Given the description of an element on the screen output the (x, y) to click on. 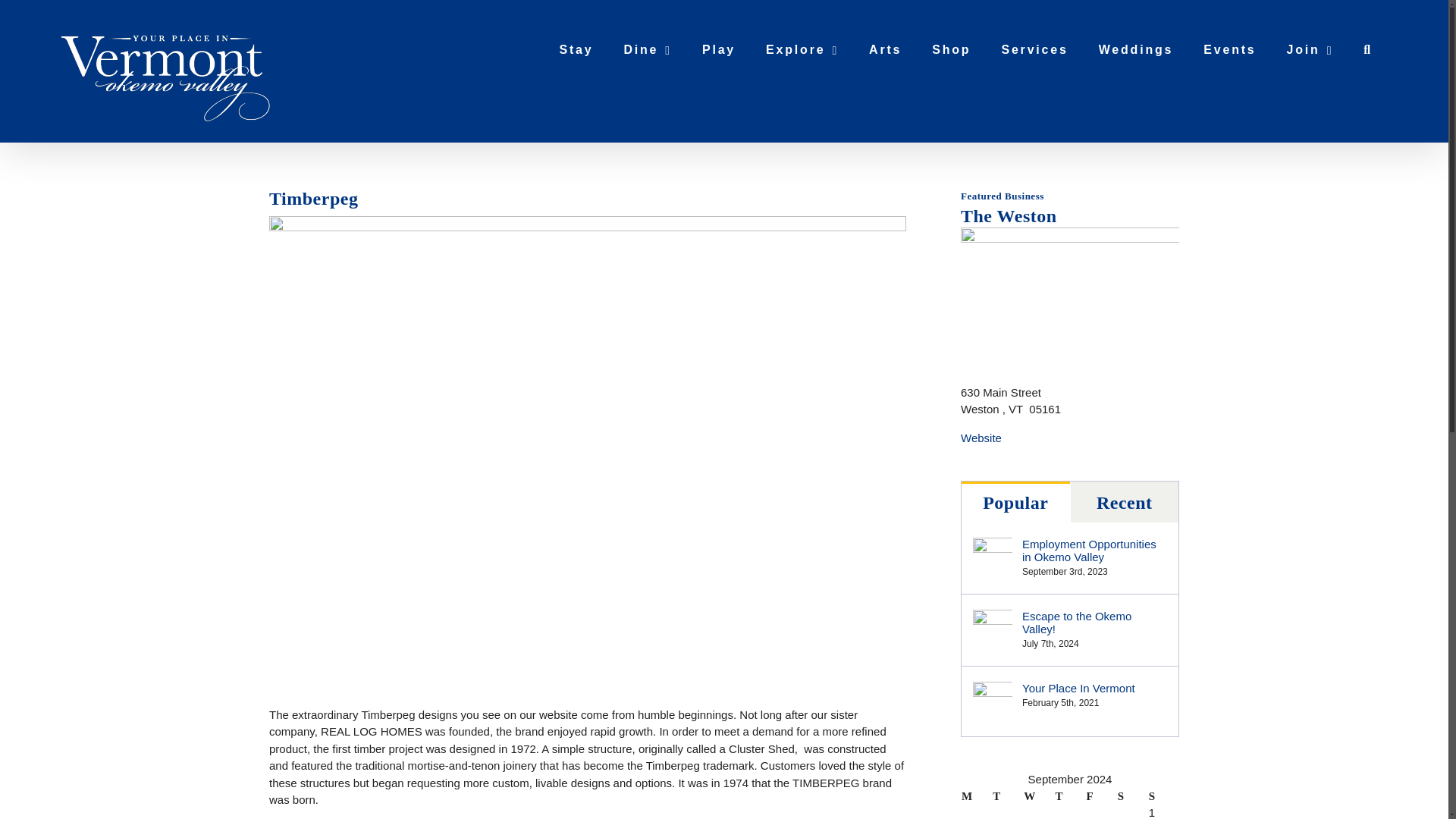
Stay (575, 50)
Events (1229, 50)
Search (1367, 50)
Arts (885, 50)
Services (1034, 50)
Weddings (1136, 50)
Tuesday (1007, 795)
Join (1310, 50)
Play (719, 50)
